Given the description of an element on the screen output the (x, y) to click on. 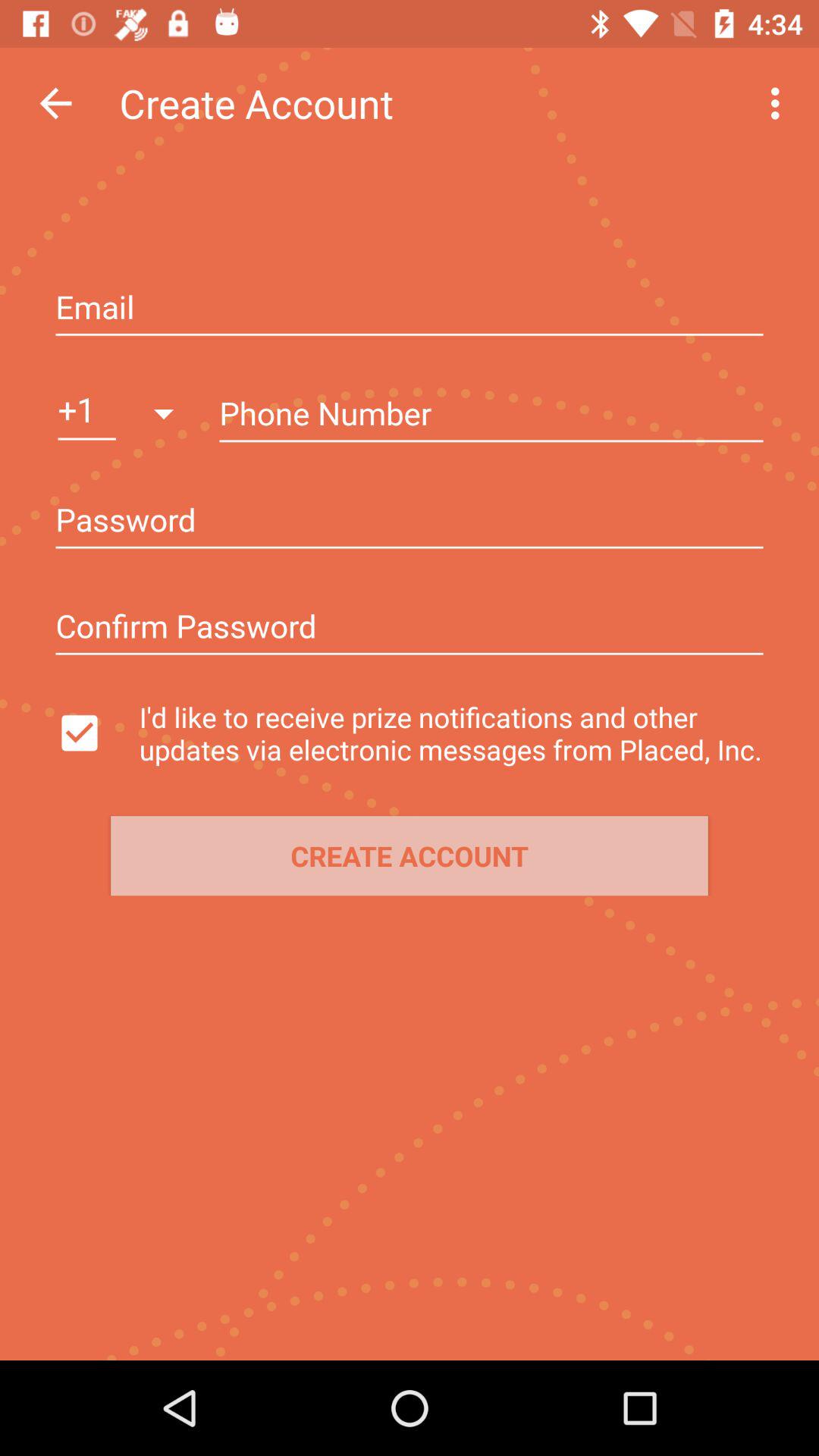
password field (409, 521)
